Given the description of an element on the screen output the (x, y) to click on. 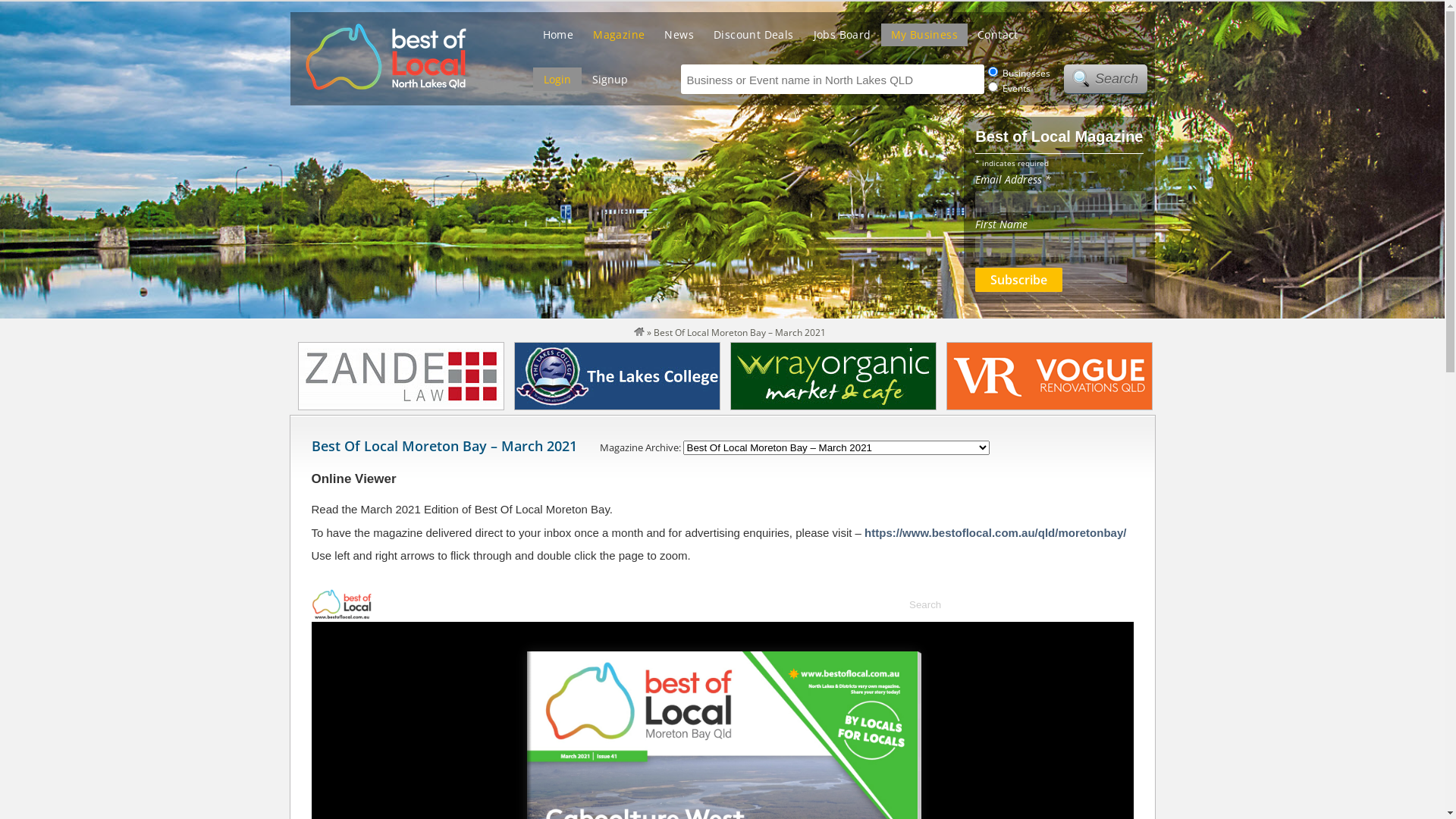
https://www.bestoflocal.com.au/qld/moretonbay/ Element type: text (995, 532)
Search Element type: text (1104, 78)
Subscribe Element type: text (1018, 279)
Jobs Board Element type: text (842, 35)
North Lakes QLD Element type: hover (638, 332)
My Business Element type: text (924, 35)
Discount Deals Element type: text (753, 35)
News Element type: text (678, 35)
Home Element type: text (557, 35)
Magazine Element type: text (618, 35)
Contact Element type: text (997, 35)
Login Element type: text (556, 80)
Signup Element type: text (608, 80)
